Given the description of an element on the screen output the (x, y) to click on. 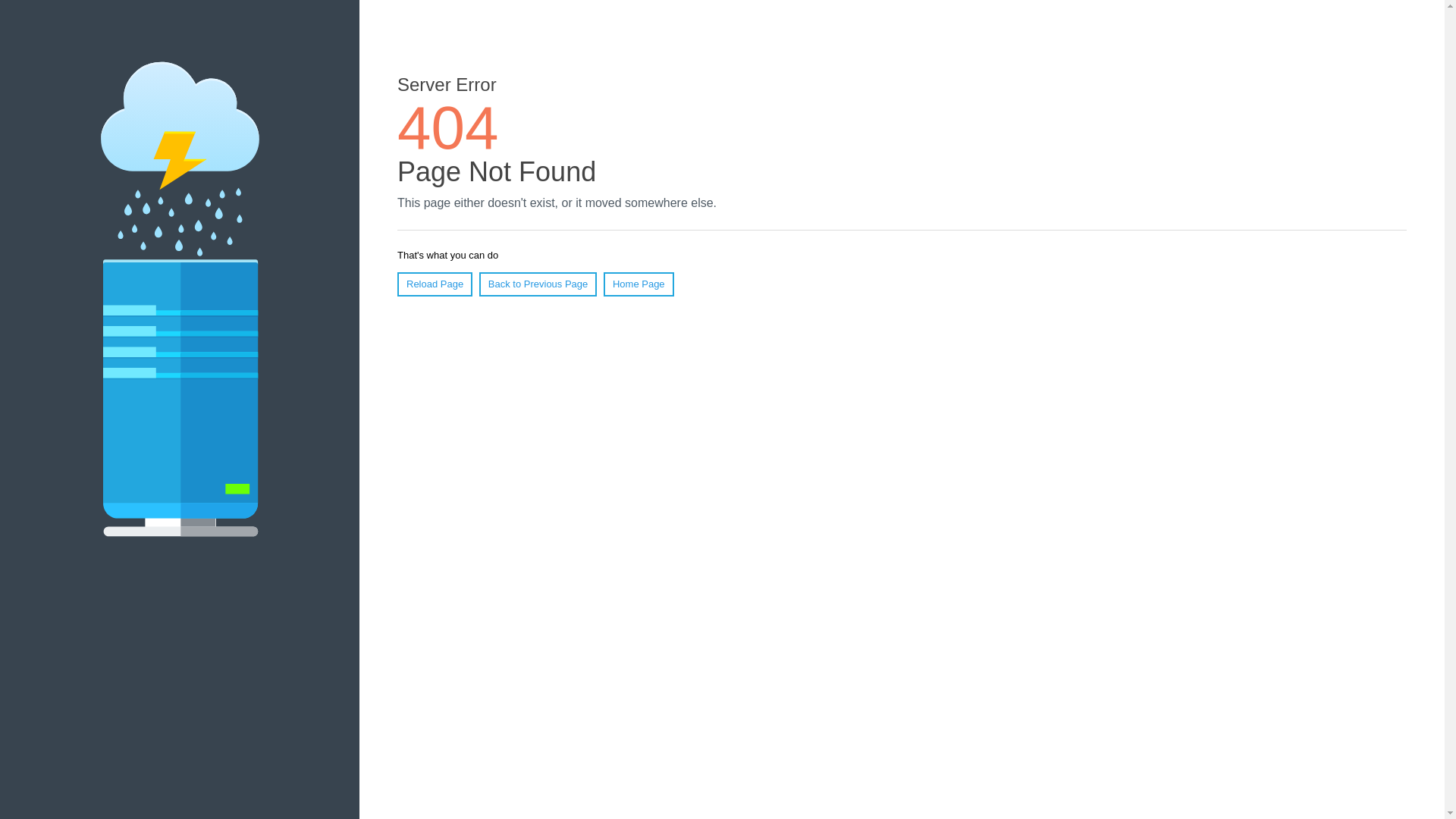
Back to Previous Page Element type: text (538, 284)
Home Page Element type: text (638, 284)
Reload Page Element type: text (434, 284)
